Given the description of an element on the screen output the (x, y) to click on. 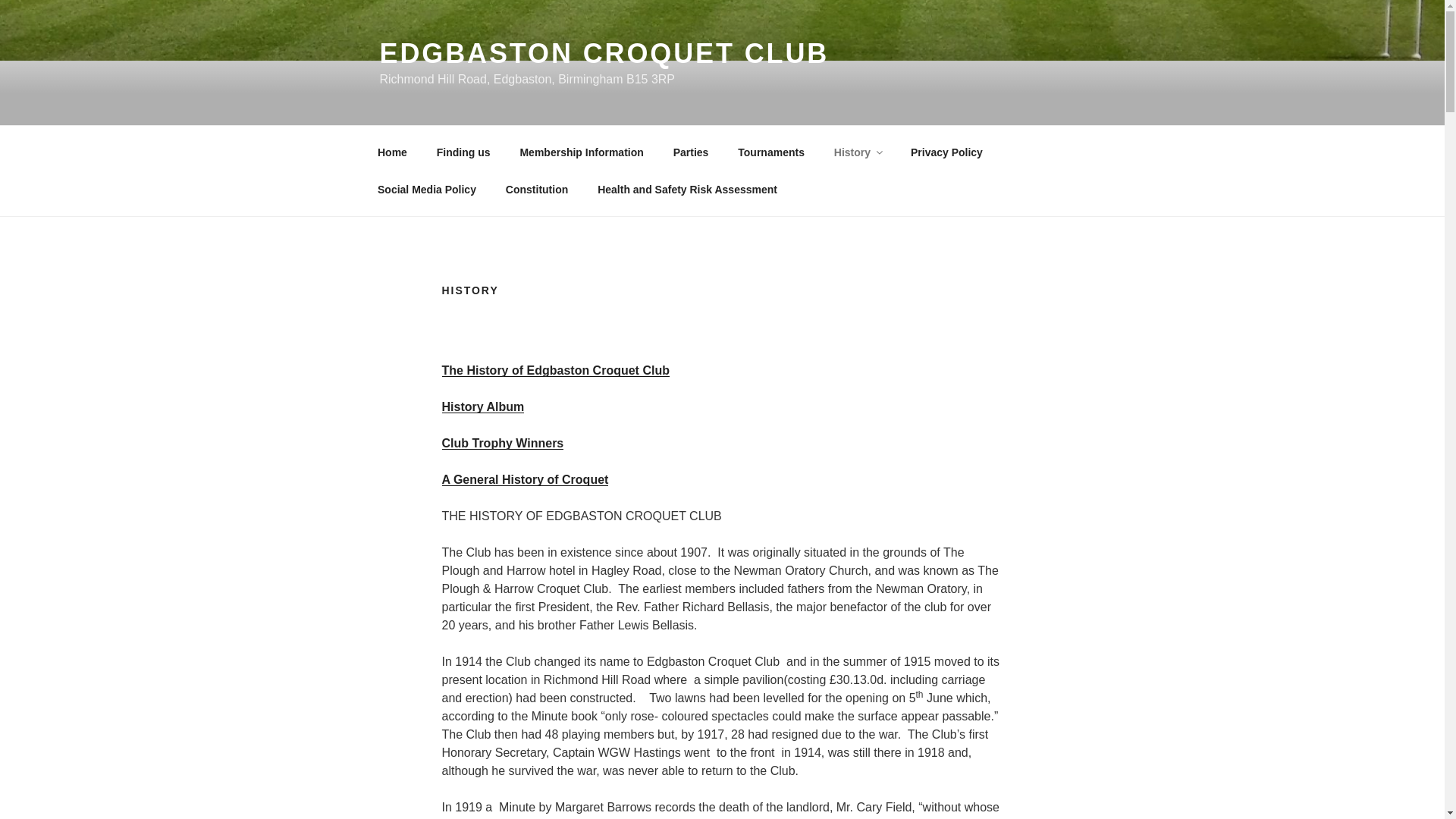
Club Trophy Winners (502, 442)
Tournaments (771, 151)
Membership Information (581, 151)
Finding us (463, 151)
EDGBASTON CROQUET CLUB (603, 52)
A General History of Croquet (524, 479)
Health and Safety Risk Assessment (687, 189)
Social Media Policy (426, 189)
History (857, 151)
Privacy Policy (945, 151)
